Given the description of an element on the screen output the (x, y) to click on. 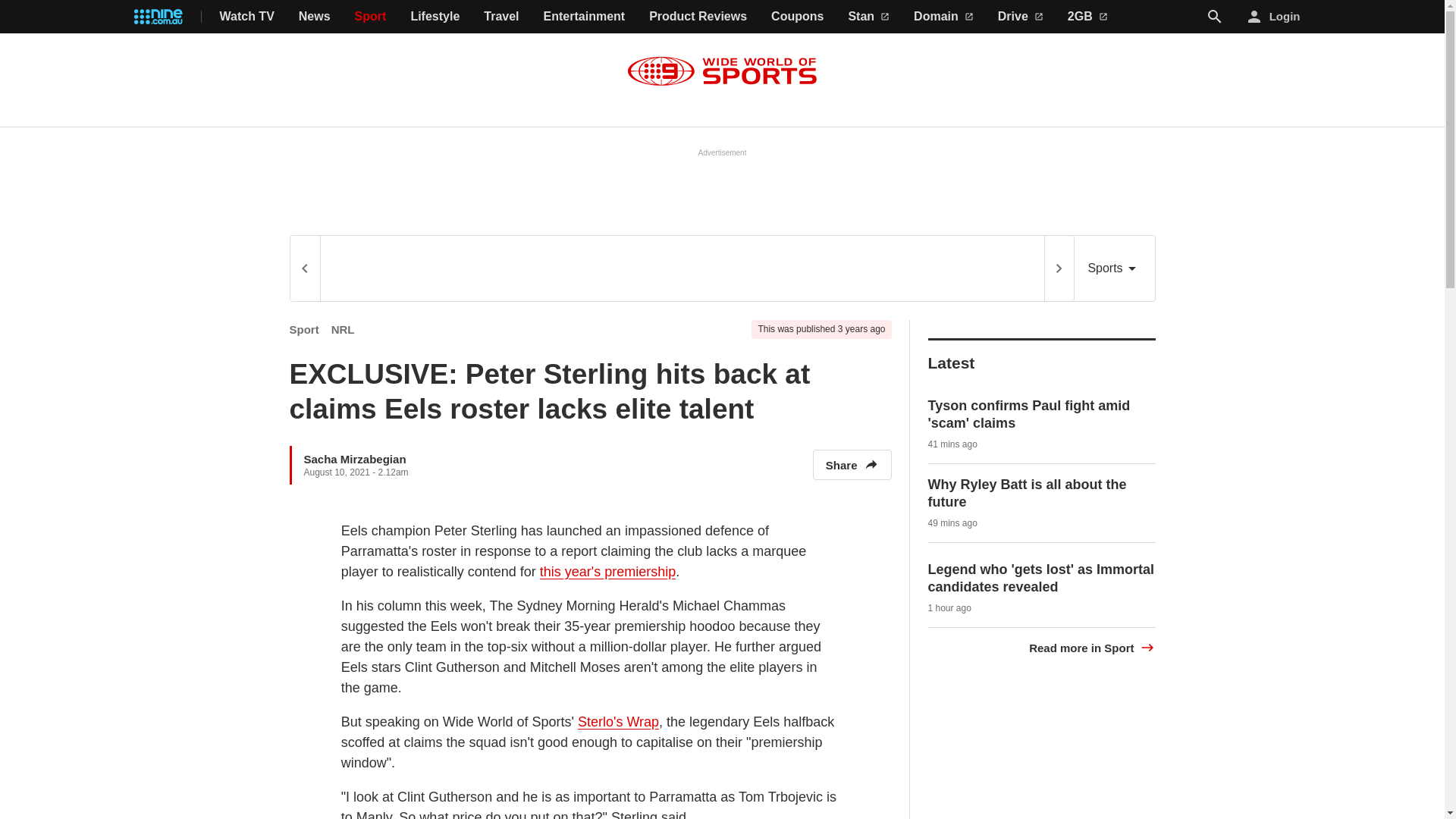
News (314, 16)
Share (851, 464)
Search (1214, 16)
Travel (500, 16)
Lifestyle (435, 16)
Sacha Mirzabegian (354, 458)
Drive (1020, 16)
Stan (868, 16)
Search (1214, 16)
Coupons (797, 16)
